Given the description of an element on the screen output the (x, y) to click on. 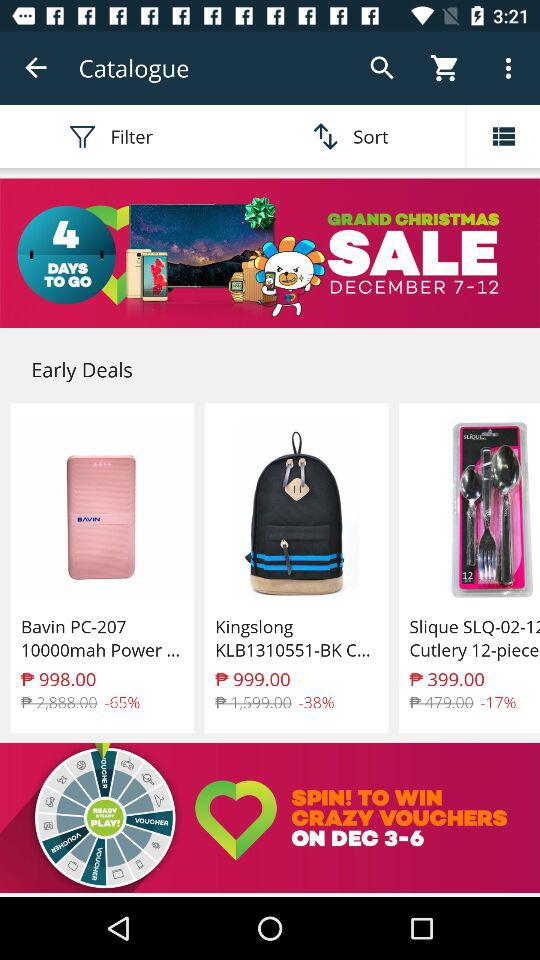
add link (270, 253)
